Given the description of an element on the screen output the (x, y) to click on. 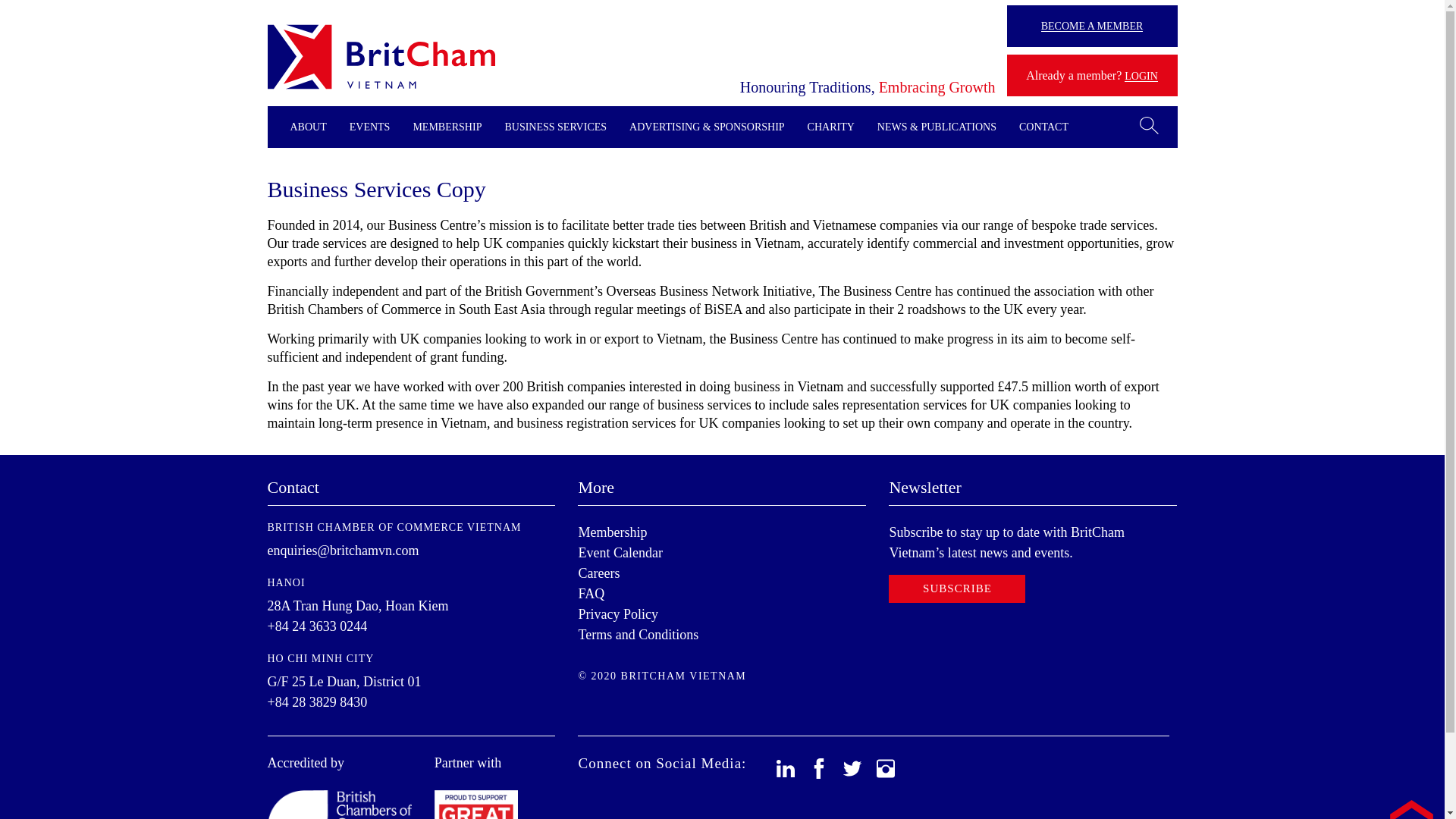
CHARITY (831, 127)
LOGIN (1140, 75)
FAQ (591, 593)
Careers (599, 572)
EVENTS (369, 127)
BECOME A MEMBER (1091, 25)
Event Calendar (620, 552)
ABOUT (308, 127)
CONTACT (1043, 127)
BUSINESS SERVICES (555, 127)
